Given the description of an element on the screen output the (x, y) to click on. 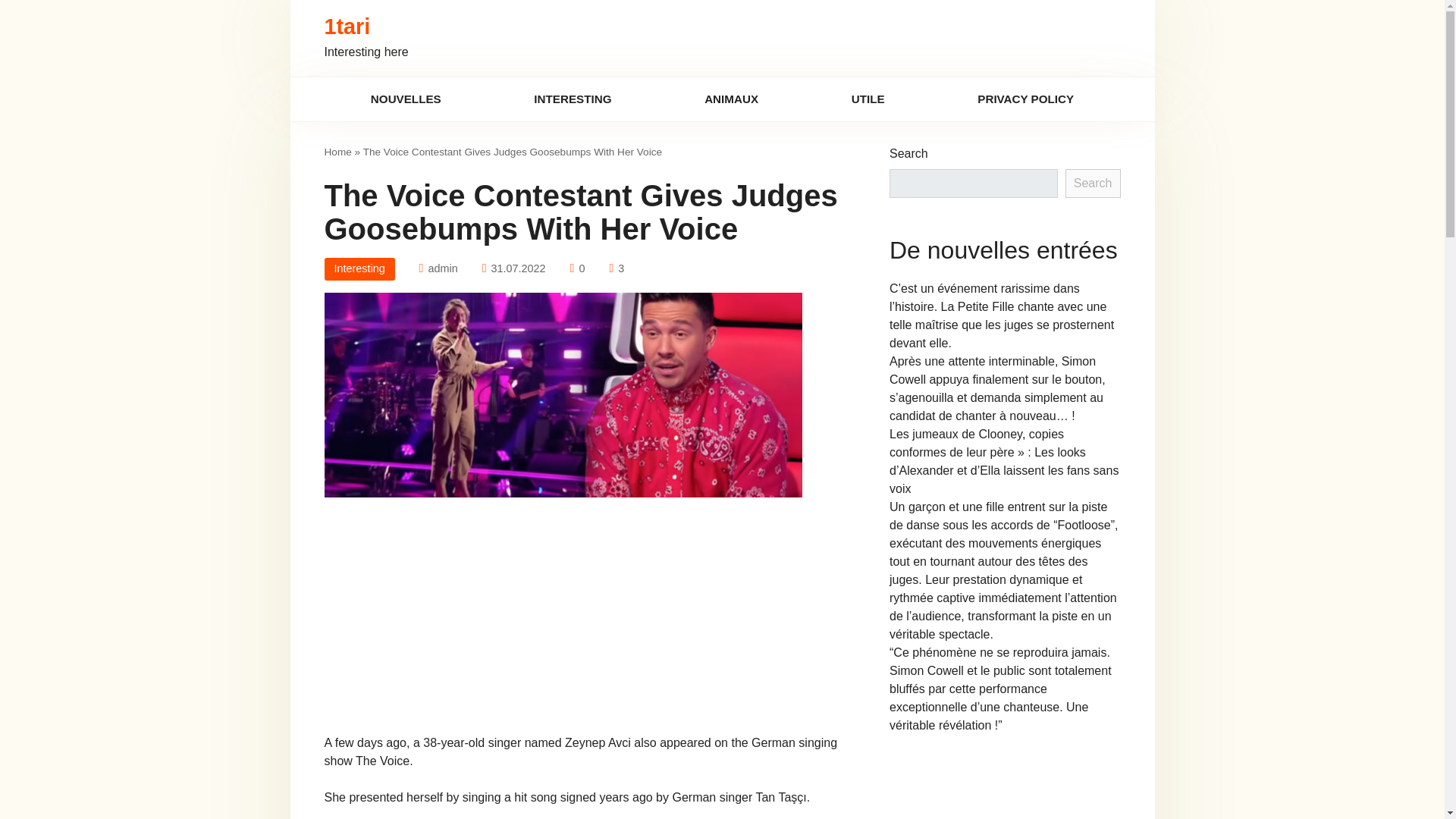
NOUVELLES (405, 99)
UTILE (868, 99)
Home (338, 152)
ANIMAUX (731, 99)
Advertisement (583, 621)
1tari (347, 26)
Interesting (359, 268)
INTERESTING (572, 99)
Search (1093, 183)
PRIVACY POLICY (1026, 99)
